Given the description of an element on the screen output the (x, y) to click on. 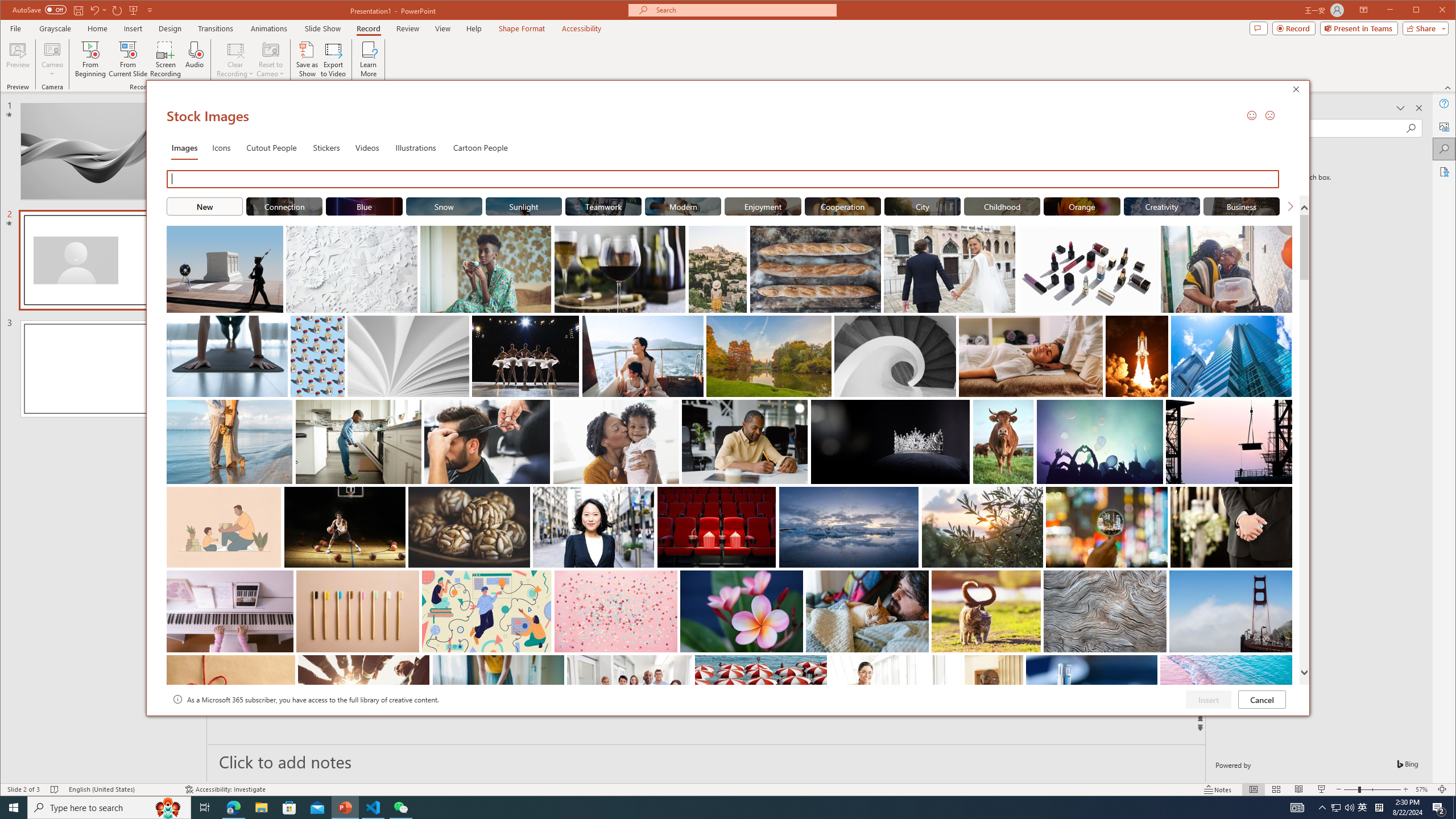
"Cooperation" Stock Images. (842, 206)
Slide Notes (706, 761)
Cancel (1261, 699)
Icons (220, 147)
"New" Stock Images. (204, 206)
Save as Show (307, 59)
